Given the description of an element on the screen output the (x, y) to click on. 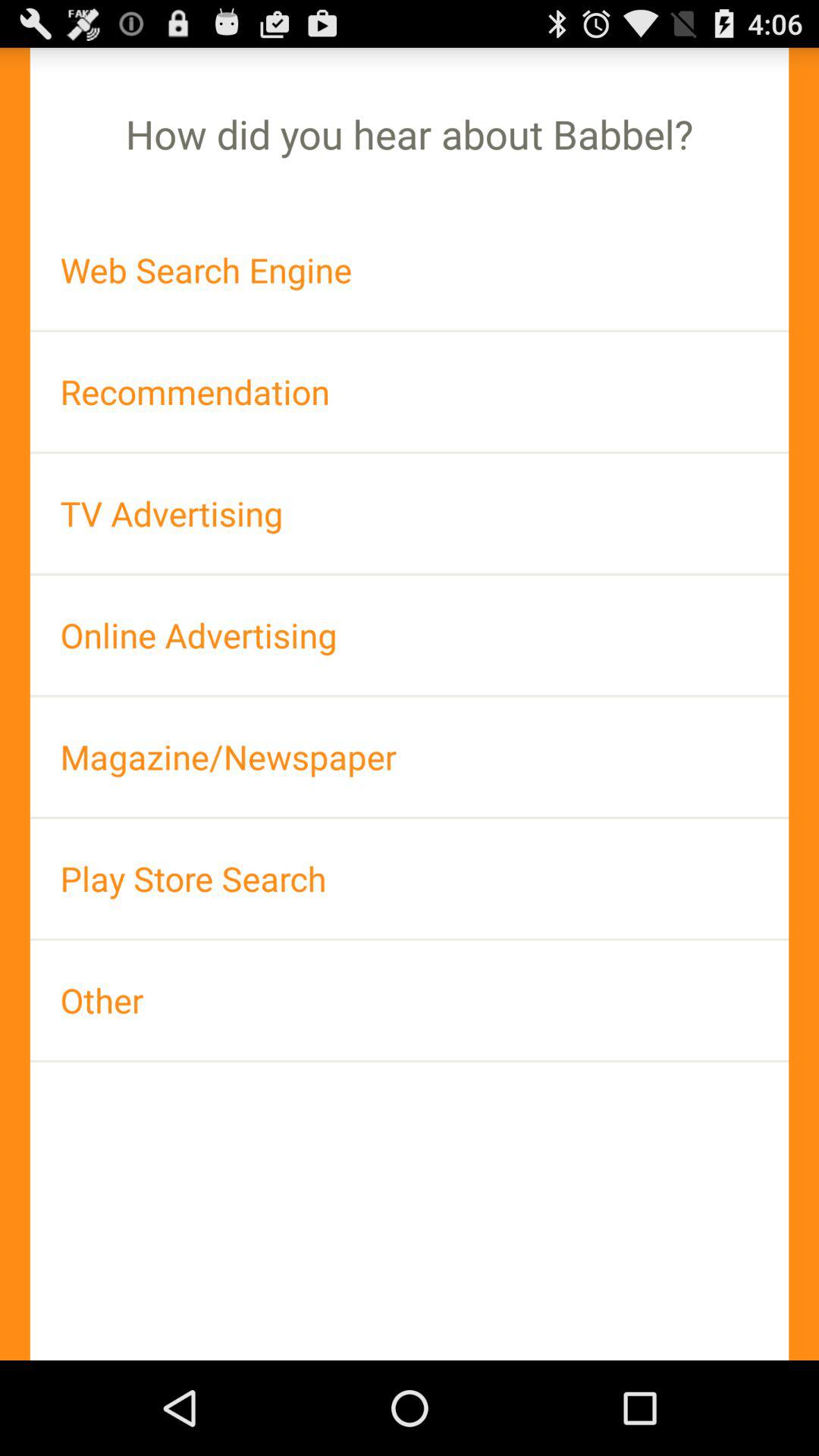
jump to the play store search item (409, 878)
